Given the description of an element on the screen output the (x, y) to click on. 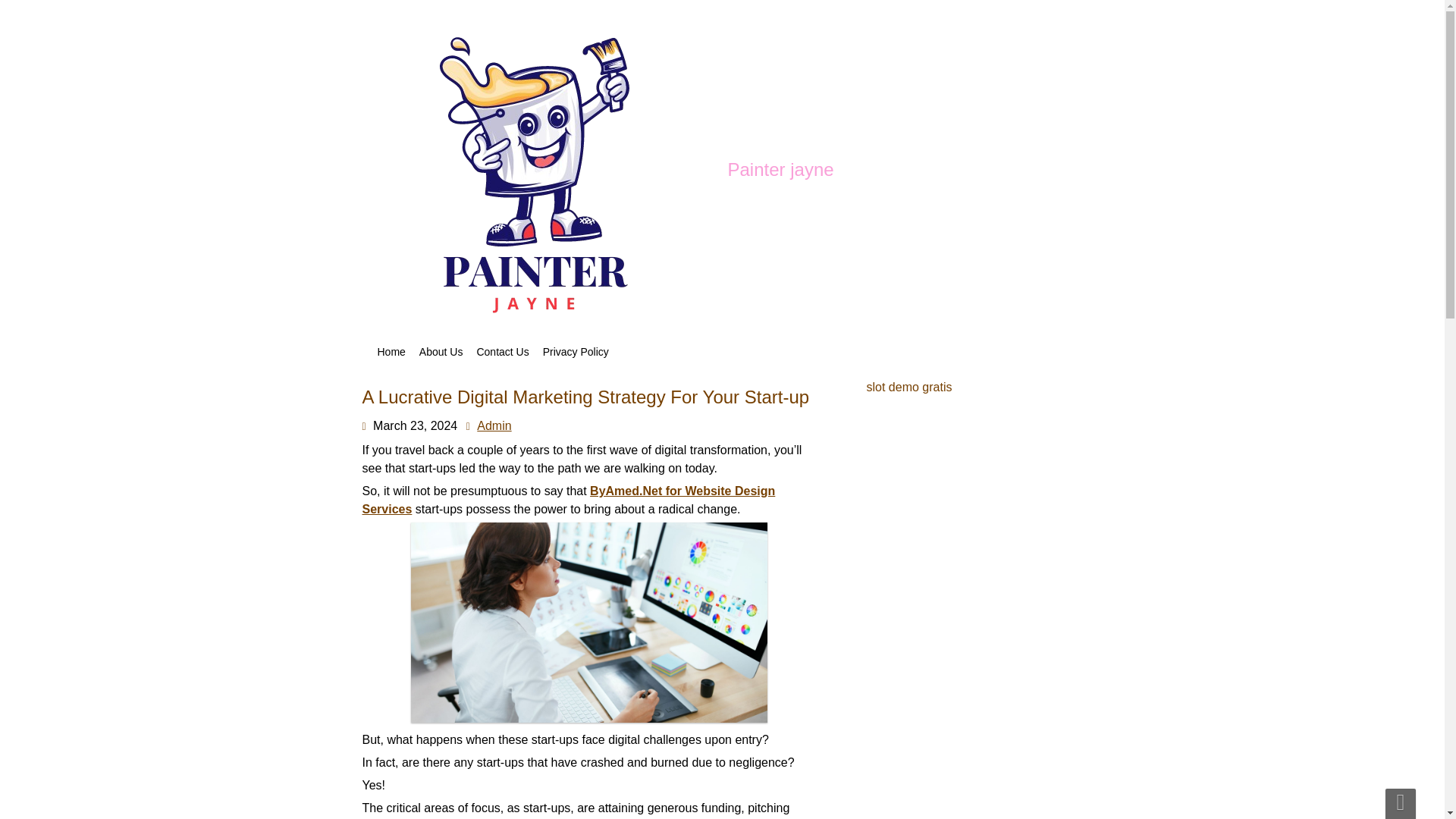
Home (390, 351)
ByAmed.Net for Website Design Services (569, 499)
About Us (440, 351)
Contact Us (501, 351)
slot demo gratis (909, 386)
Painter jayne (781, 169)
Posts by Admin (494, 425)
Privacy Policy (575, 351)
Admin (494, 425)
